Given the description of an element on the screen output the (x, y) to click on. 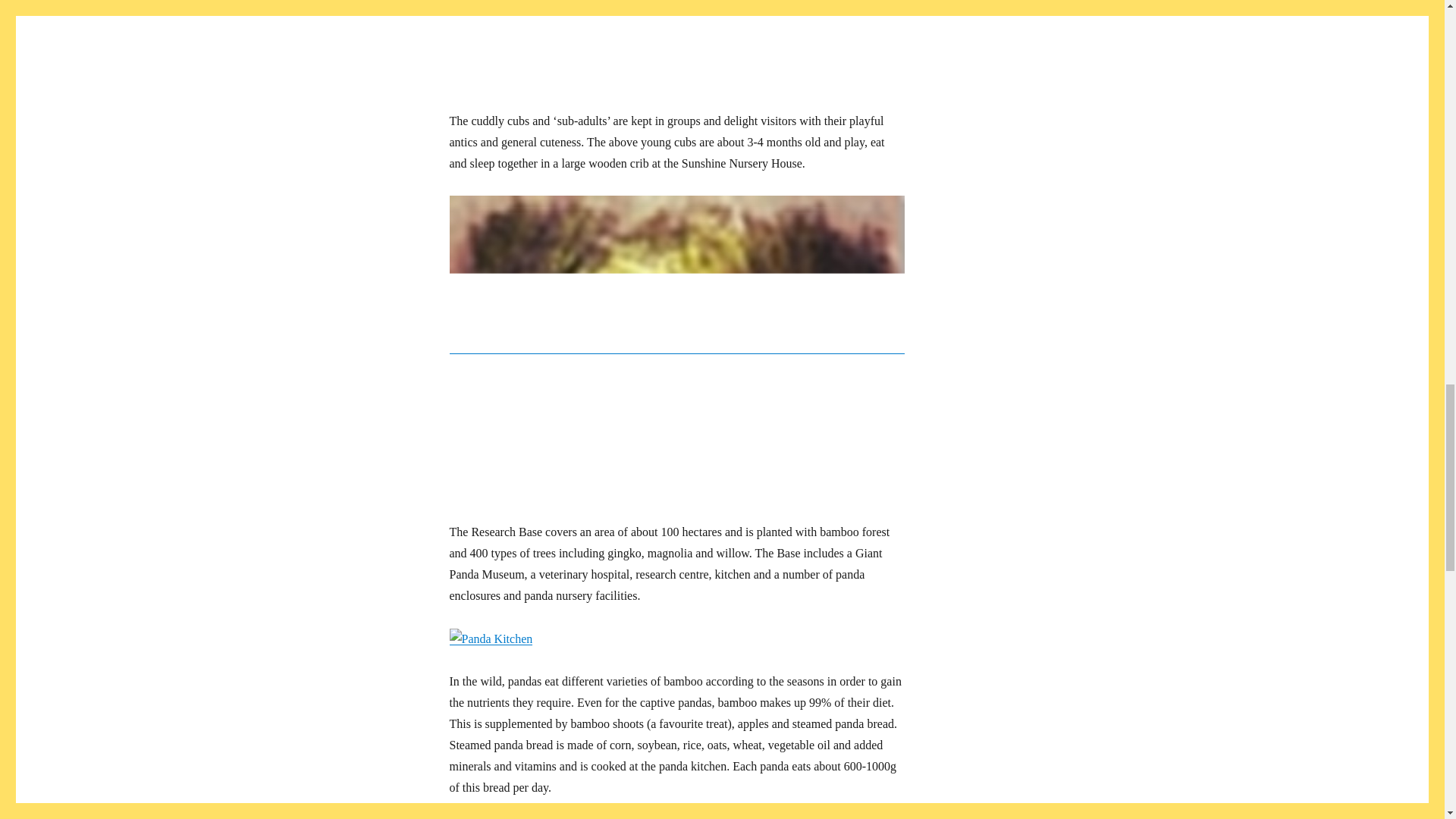
Panda Kitchen (490, 639)
Adorable panda cubs at the Sunshine Nursery House (676, 45)
